Given the description of an element on the screen output the (x, y) to click on. 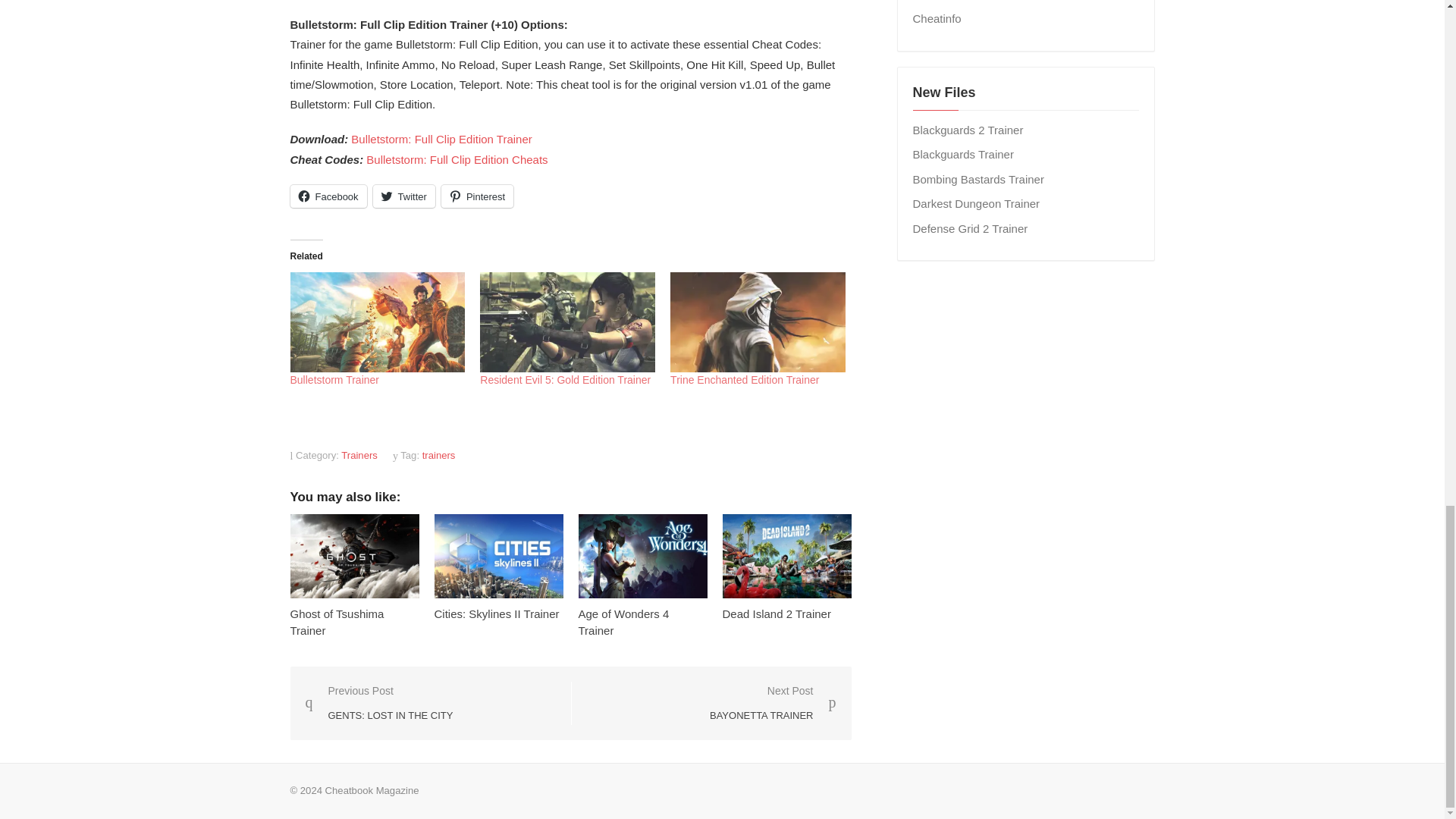
trainers (438, 455)
Resident Evil 5: Gold Edition Trainer (565, 379)
Bulletstorm: Full Clip Edition Trainer (440, 138)
Trine Enchanted Edition Trainer (743, 379)
Trainers (358, 455)
Bulletstorm: Full Clip Edition Cheats (456, 159)
Bulletstorm Trainer (376, 321)
Facebook (327, 196)
Resident Evil 5: Gold Edition Trainer (567, 321)
Cities: Skylines II Trainer (496, 613)
